Given the description of an element on the screen output the (x, y) to click on. 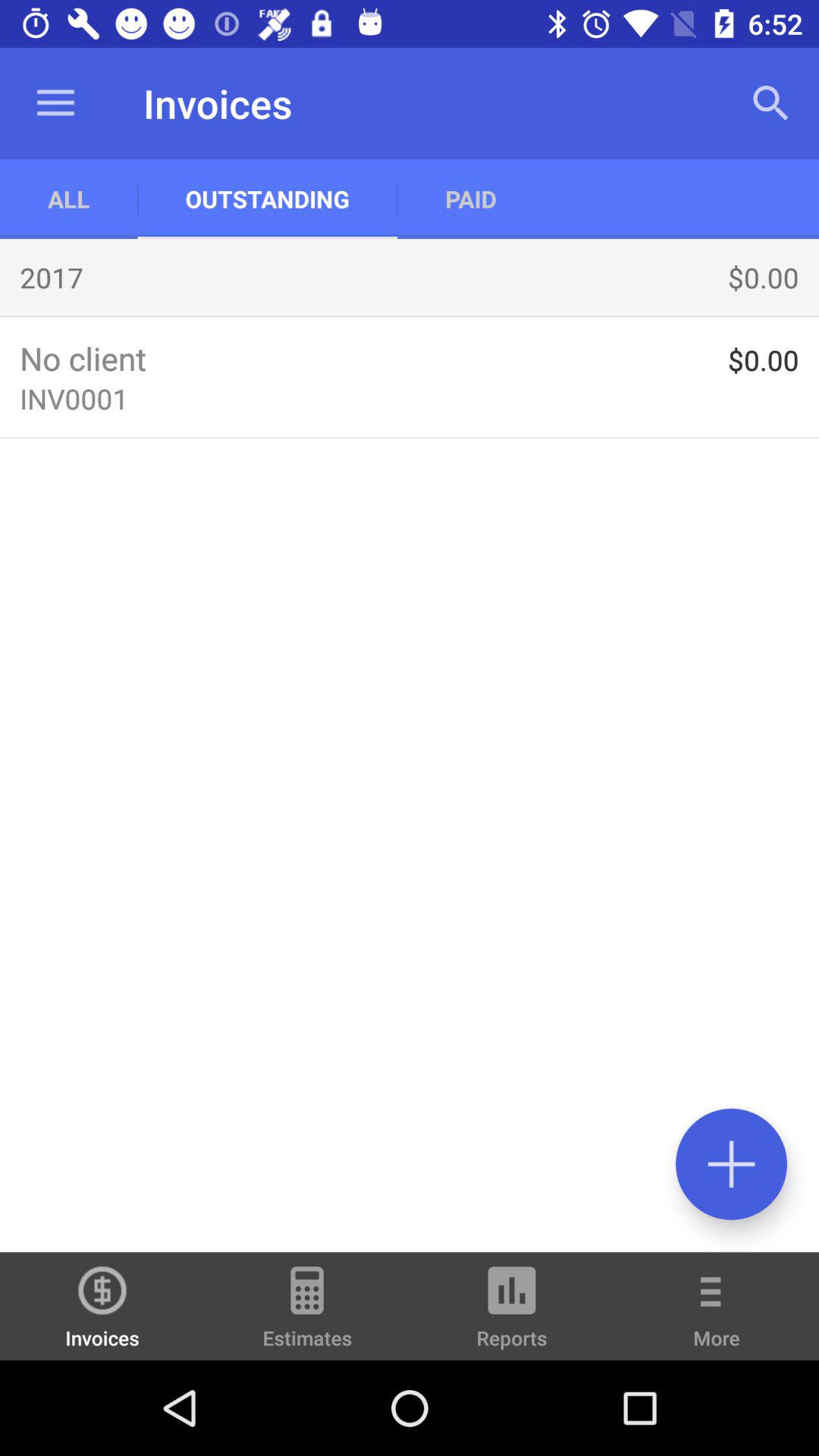
click the item to the left of the reports item (306, 1313)
